Given the description of an element on the screen output the (x, y) to click on. 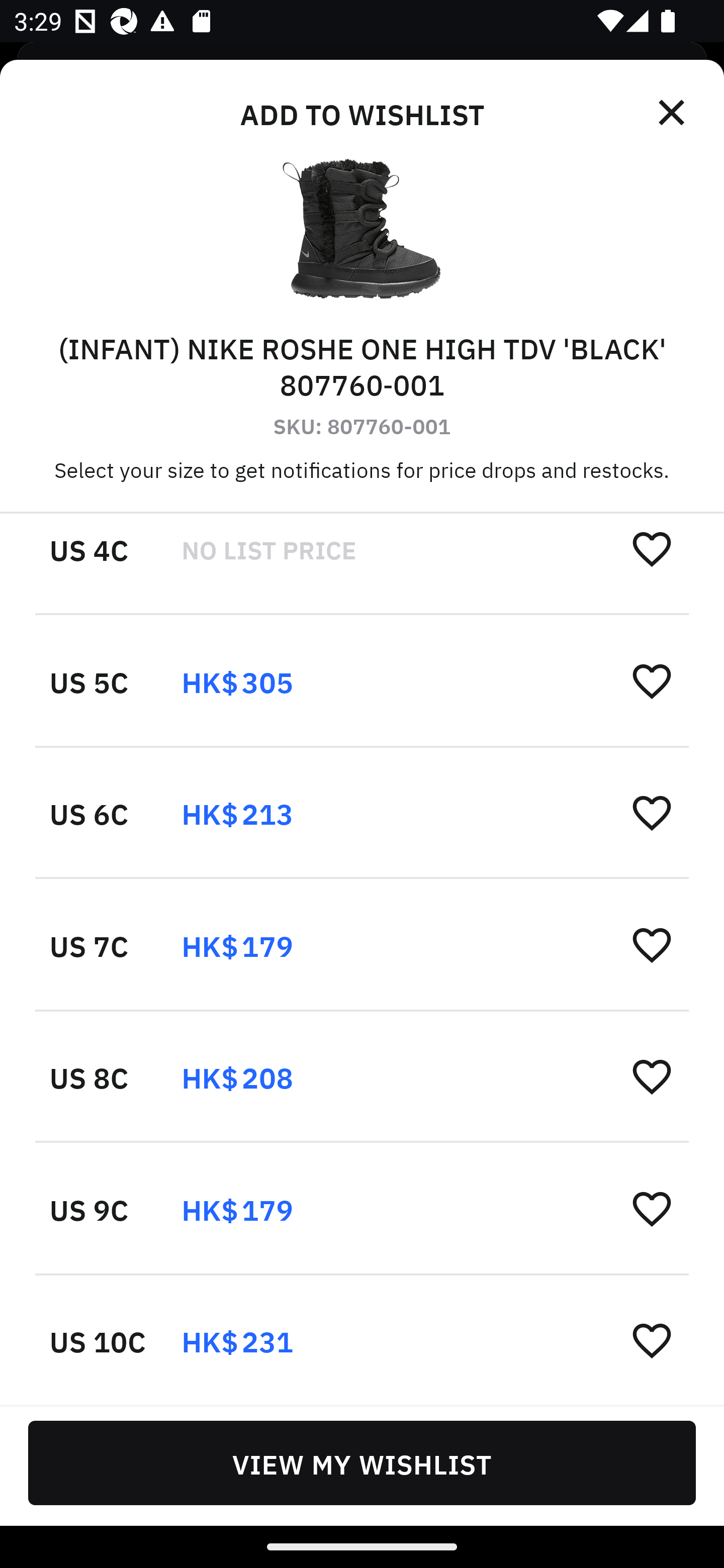
 (672, 112)
󰋕 (651, 547)
󰋕 (651, 681)
󰋕 (651, 812)
󰋕 (651, 944)
󰋕 (651, 1076)
󰋕 (651, 1207)
󰋕 (651, 1339)
VIEW MY WISHLIST (361, 1462)
